Given the description of an element on the screen output the (x, y) to click on. 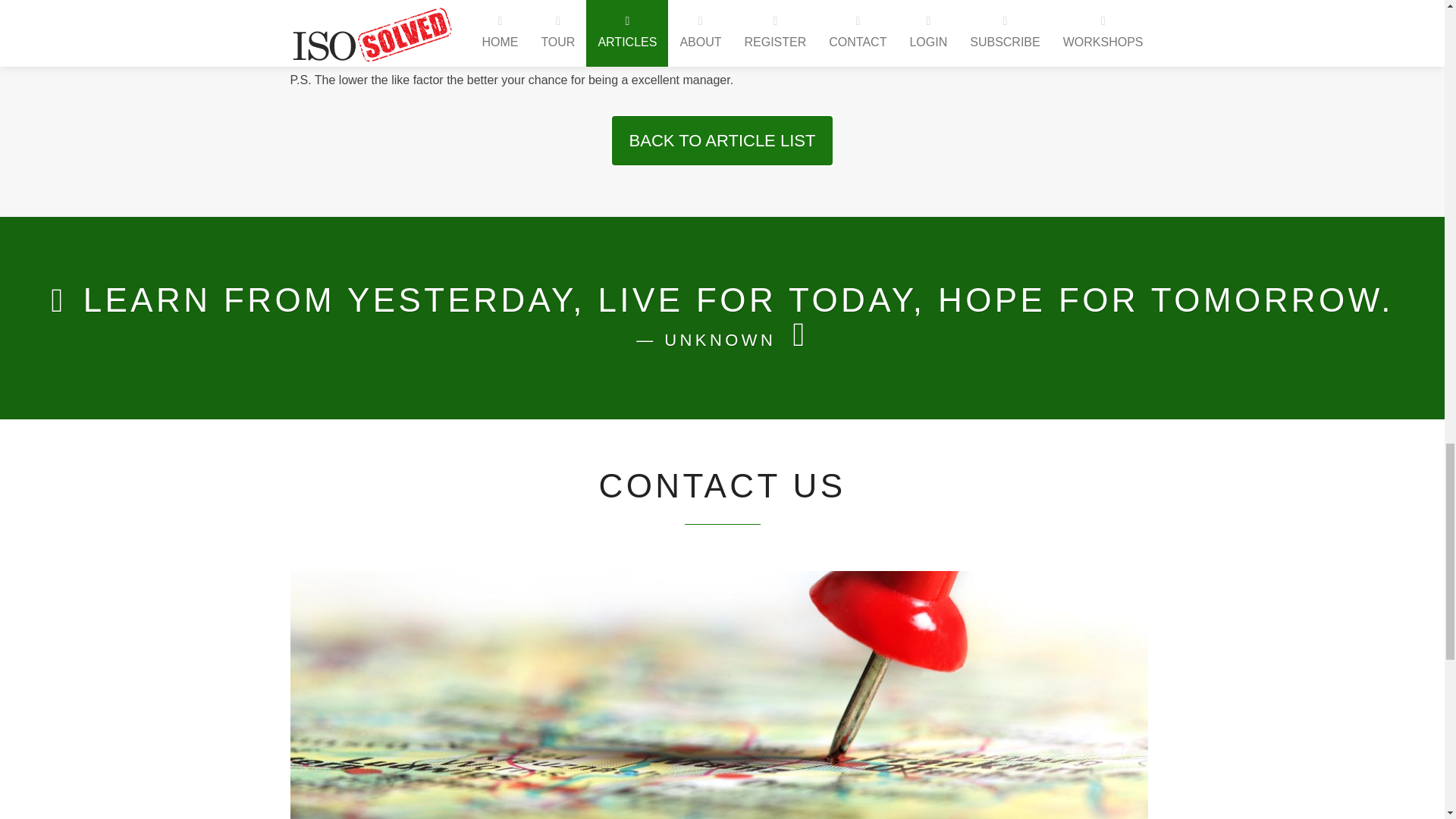
Back to Article List (722, 140)
